Given the description of an element on the screen output the (x, y) to click on. 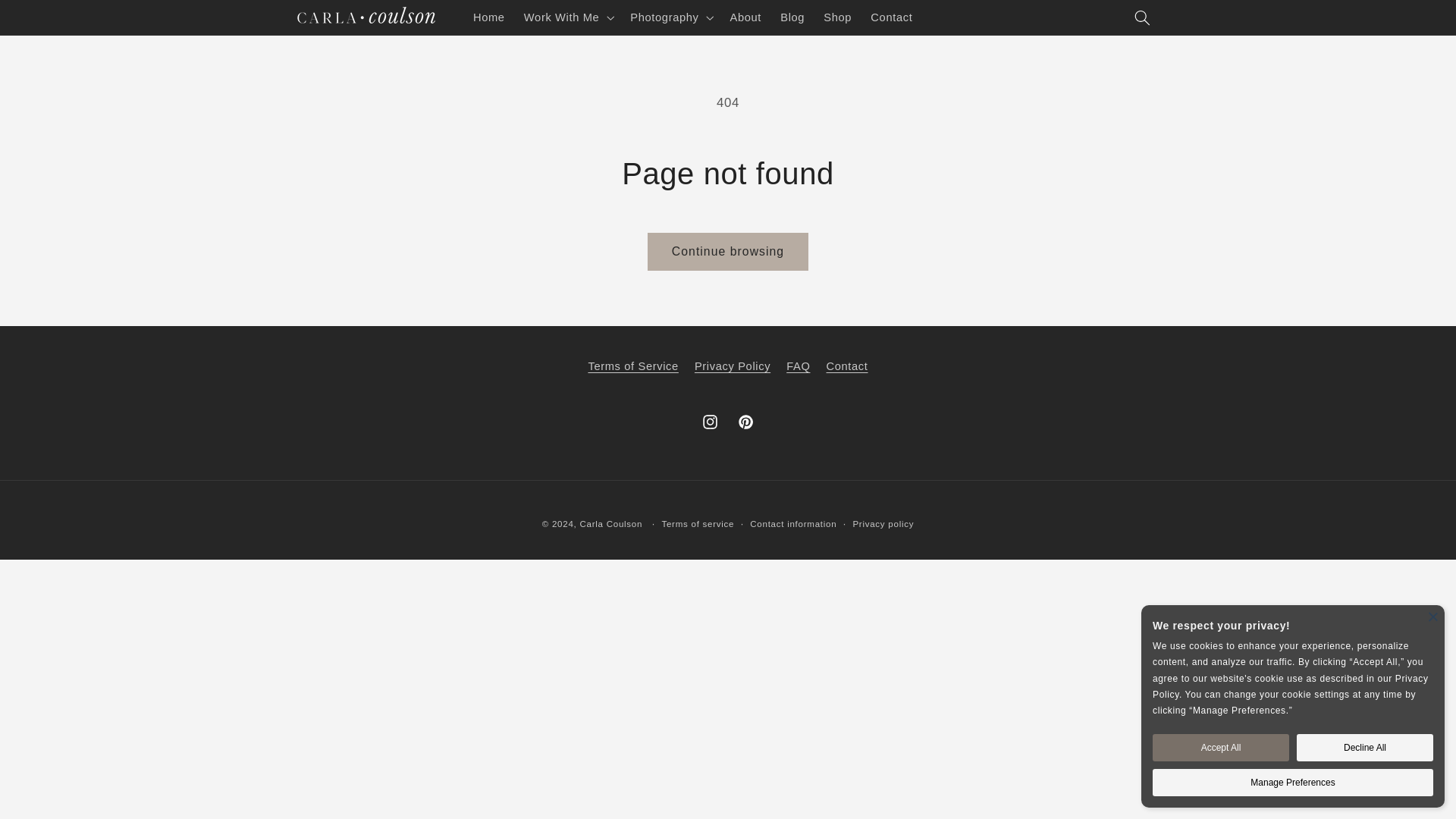
Home (488, 17)
Shop (837, 17)
Continue browsing (727, 251)
Contact (891, 17)
Blog (792, 17)
Skip to content (48, 18)
Decline All (1364, 747)
Accept All (1220, 747)
Manage Preferences (1292, 782)
Terms of Service (633, 368)
